Given the description of an element on the screen output the (x, y) to click on. 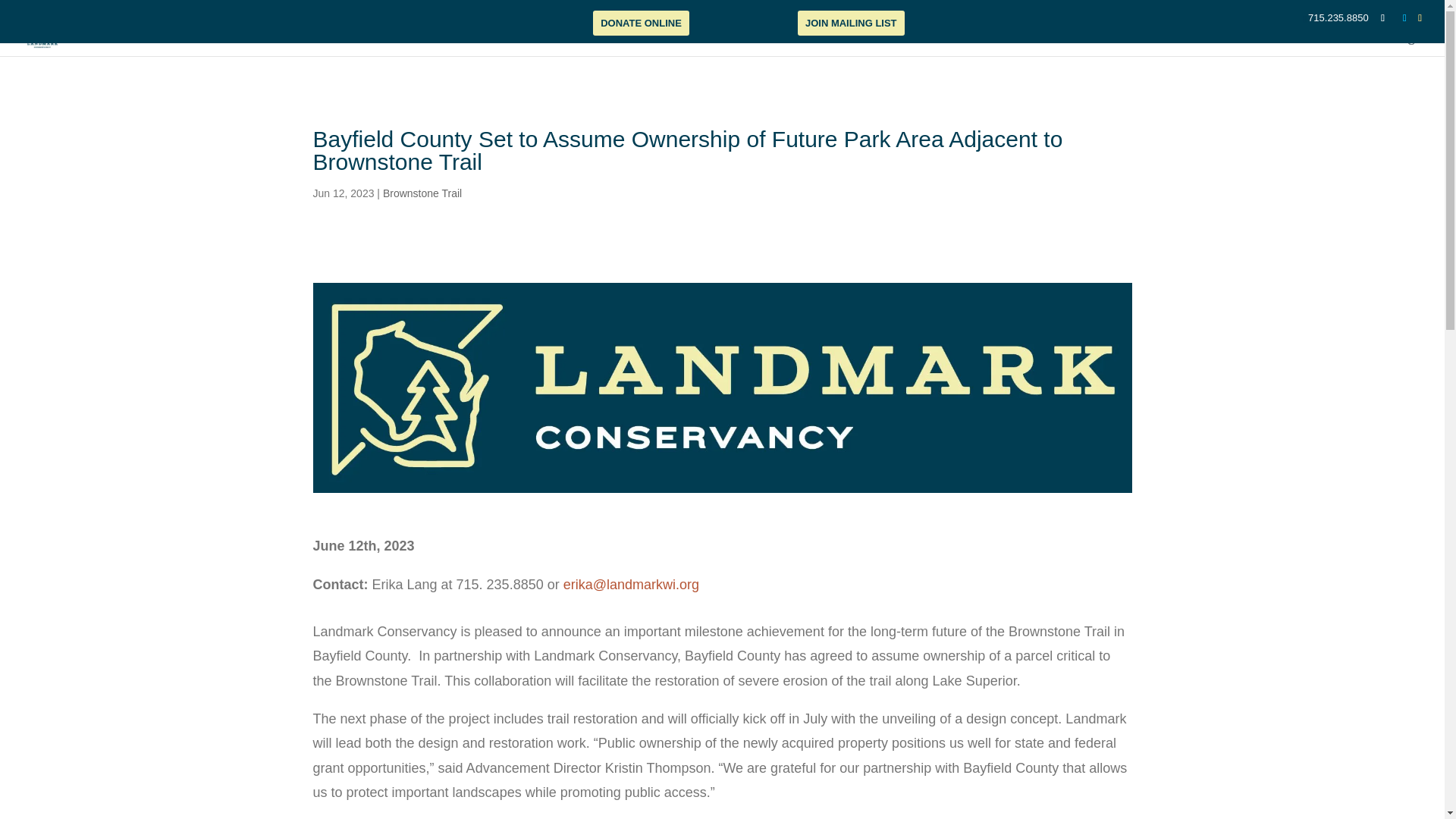
LAND PROTECTION (957, 45)
Brownstone Trail (421, 193)
JOIN MAILING LIST (850, 23)
DONATE ONLINE (640, 23)
SUPPORT US (1295, 45)
HOME (828, 45)
BLOG (1233, 45)
715.235.8850 (1337, 17)
GET OUTSIDE! (1054, 45)
